Given the description of an element on the screen output the (x, y) to click on. 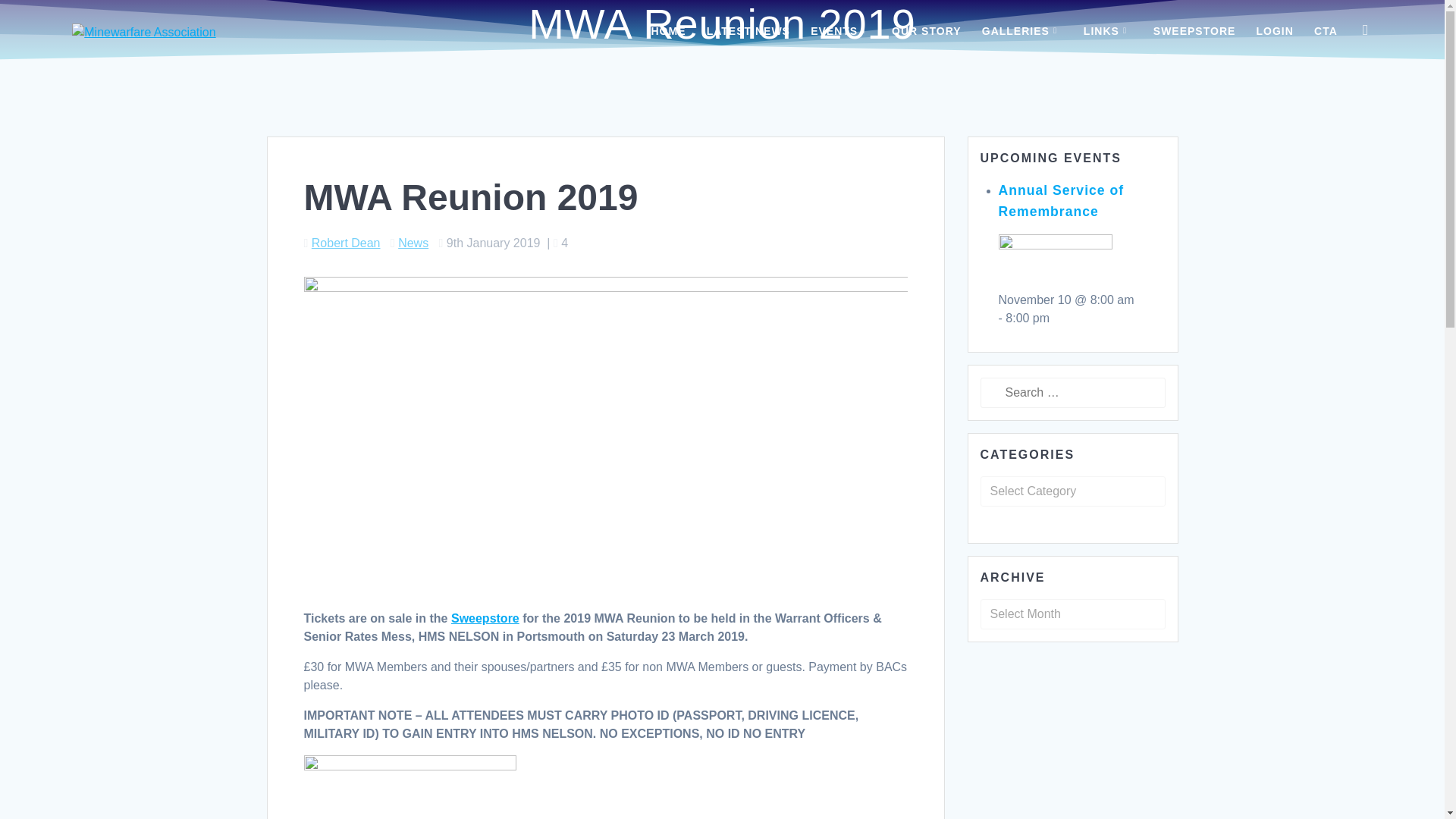
Robert Dean (345, 242)
LATEST NEWS (748, 31)
LOGIN (1275, 31)
CTA (1326, 31)
Posts by Robert Dean (345, 242)
GALLERIES (1021, 31)
HOME (667, 31)
News (412, 242)
LINKS (1107, 31)
OUR STORY (925, 31)
